Given the description of an element on the screen output the (x, y) to click on. 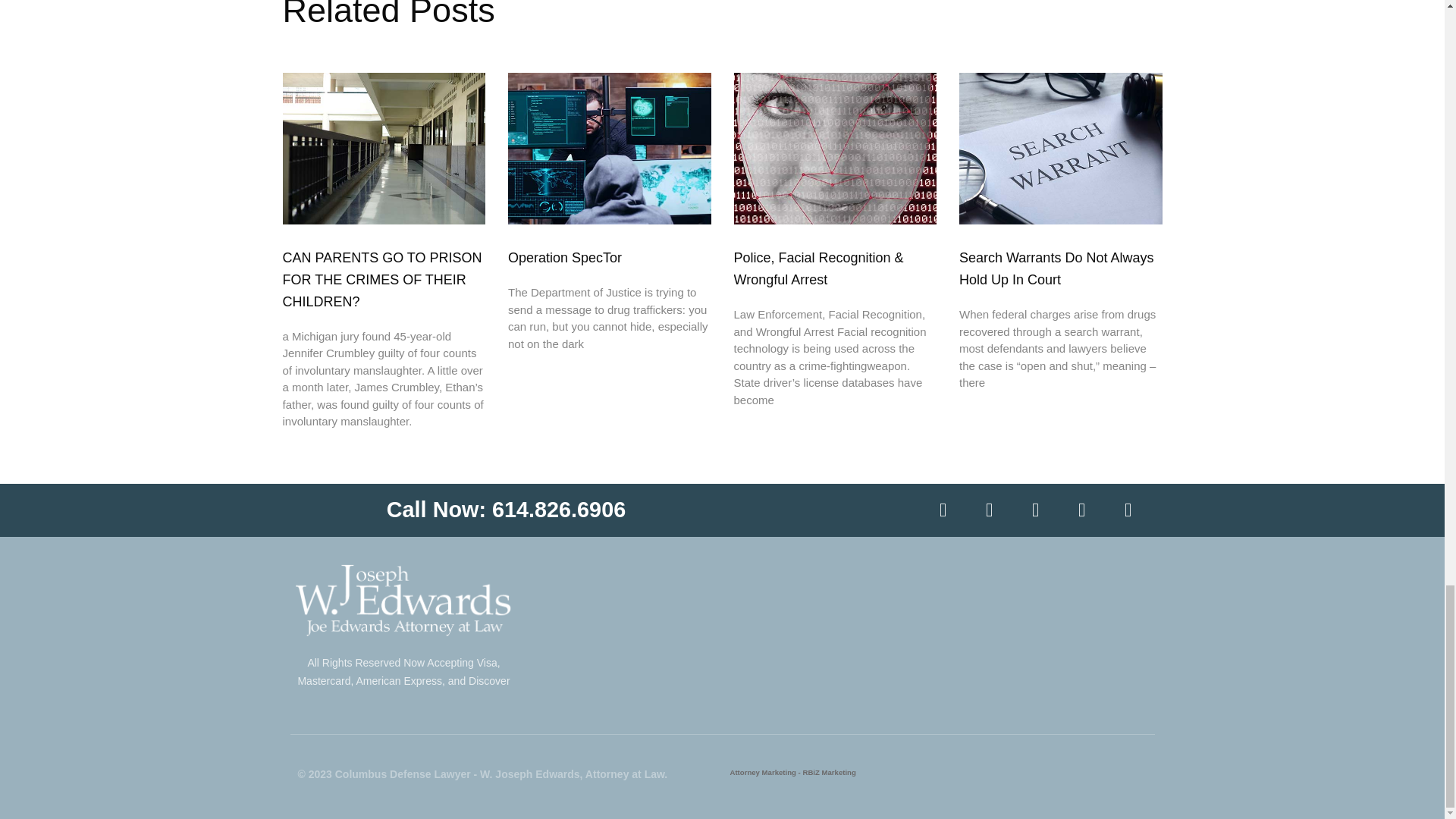
Operation SpecTor (564, 257)
Search Warrants Do Not Always Hold Up In Court (1056, 268)
Call Now: 614.826.6906 (506, 509)
CAN PARENTS GO TO PRISON FOR THE CRIMES OF THEIR CHILDREN? (381, 279)
